Given the description of an element on the screen output the (x, y) to click on. 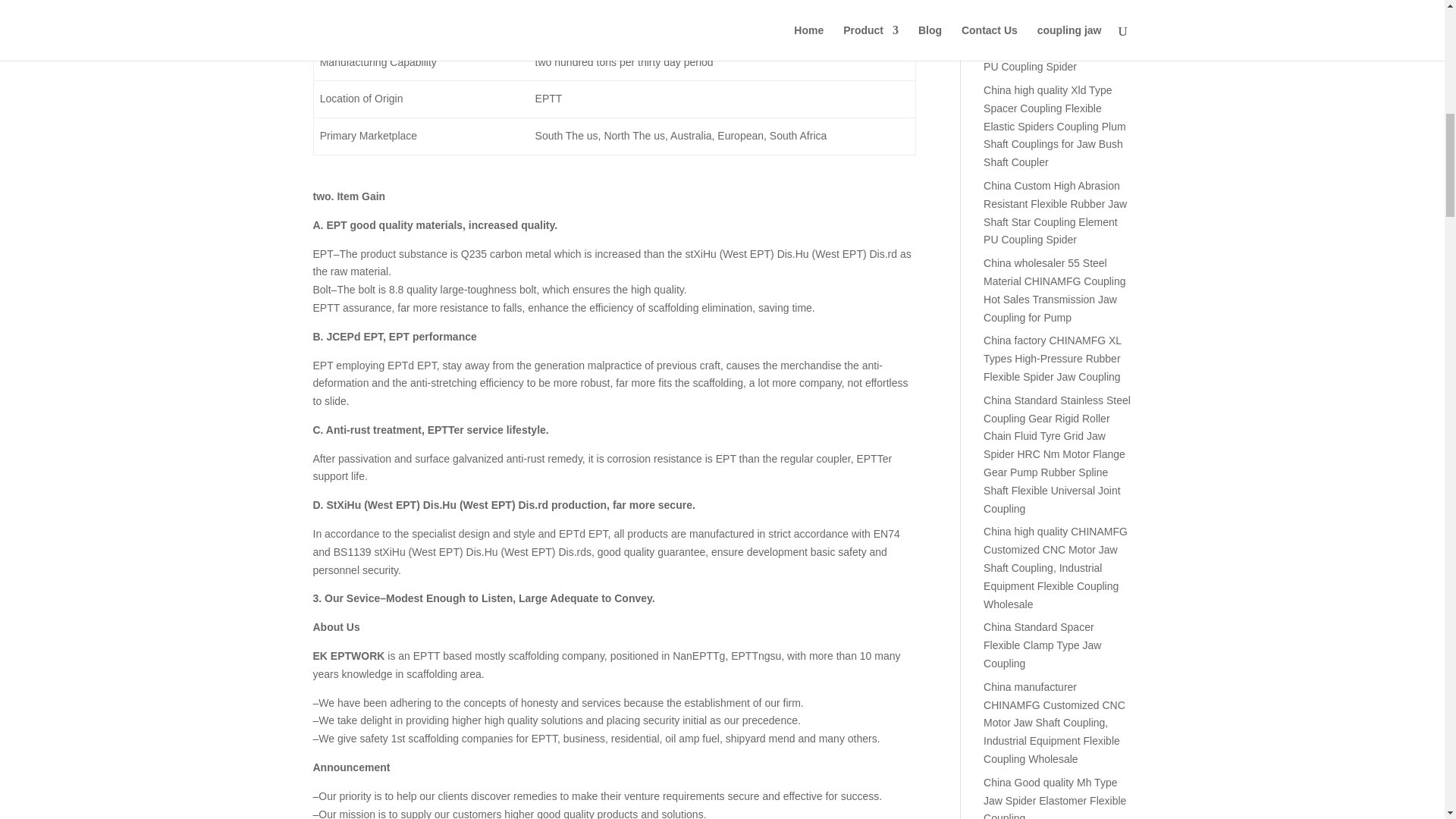
China Standard Spacer Flexible Clamp Type Jaw Coupling (1042, 644)
